Given the description of an element on the screen output the (x, y) to click on. 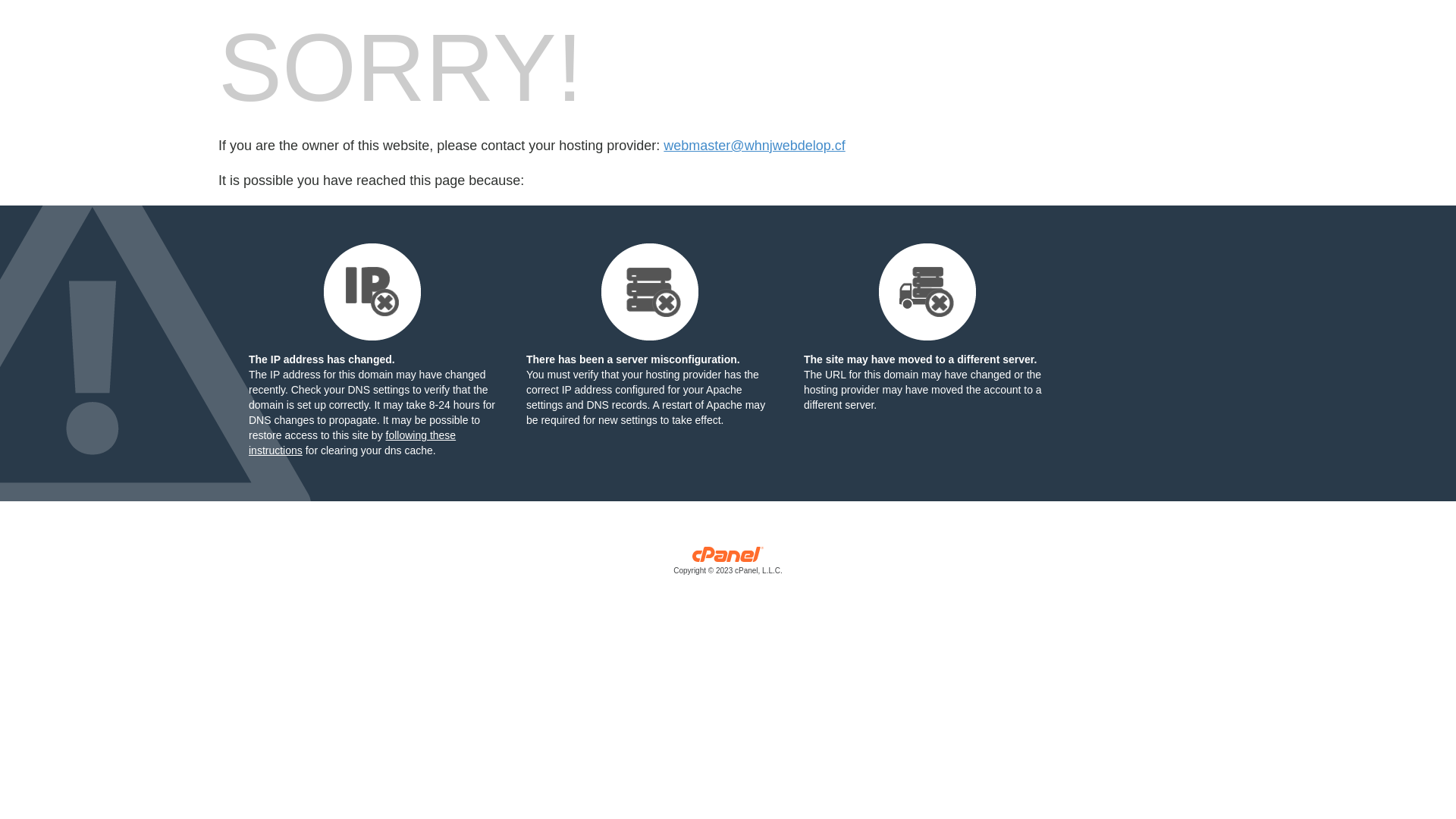
webmaster@whnjwebdelop.cf Element type: text (753, 145)
following these instructions Element type: text (351, 442)
